Given the description of an element on the screen output the (x, y) to click on. 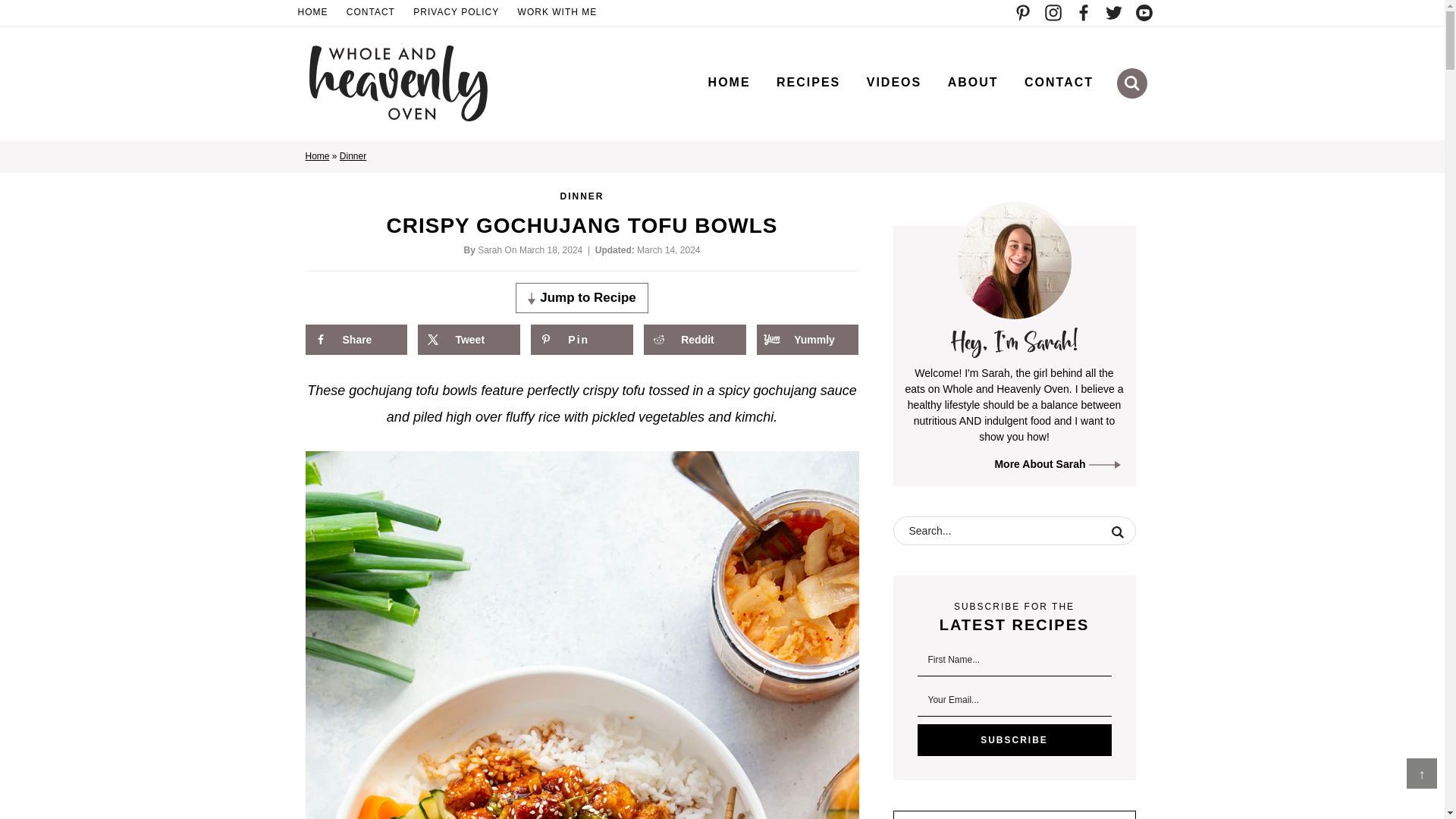
HOME (729, 82)
PRIVACY POLICY (456, 13)
WORK WITH ME (558, 13)
CONTACT (1058, 82)
Share on Reddit (694, 339)
Share on X (468, 339)
Home (316, 155)
Save to Pinterest (581, 339)
